Given the description of an element on the screen output the (x, y) to click on. 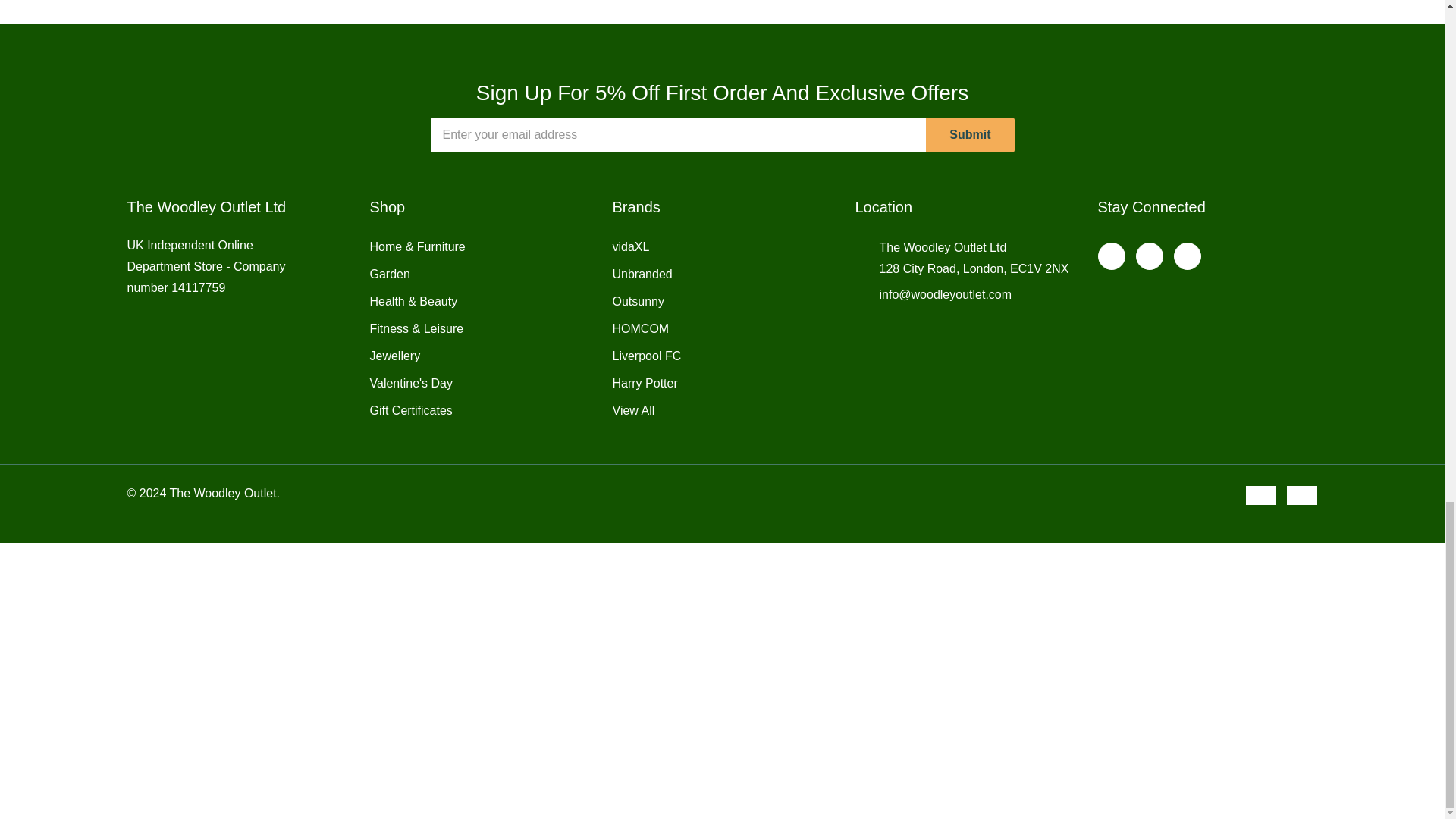
Submit (969, 134)
Open Facebook in a new tab (1110, 257)
Open Instagram in a new tab (1148, 257)
Open Pinterest in a new tab (1186, 257)
